Given the description of an element on the screen output the (x, y) to click on. 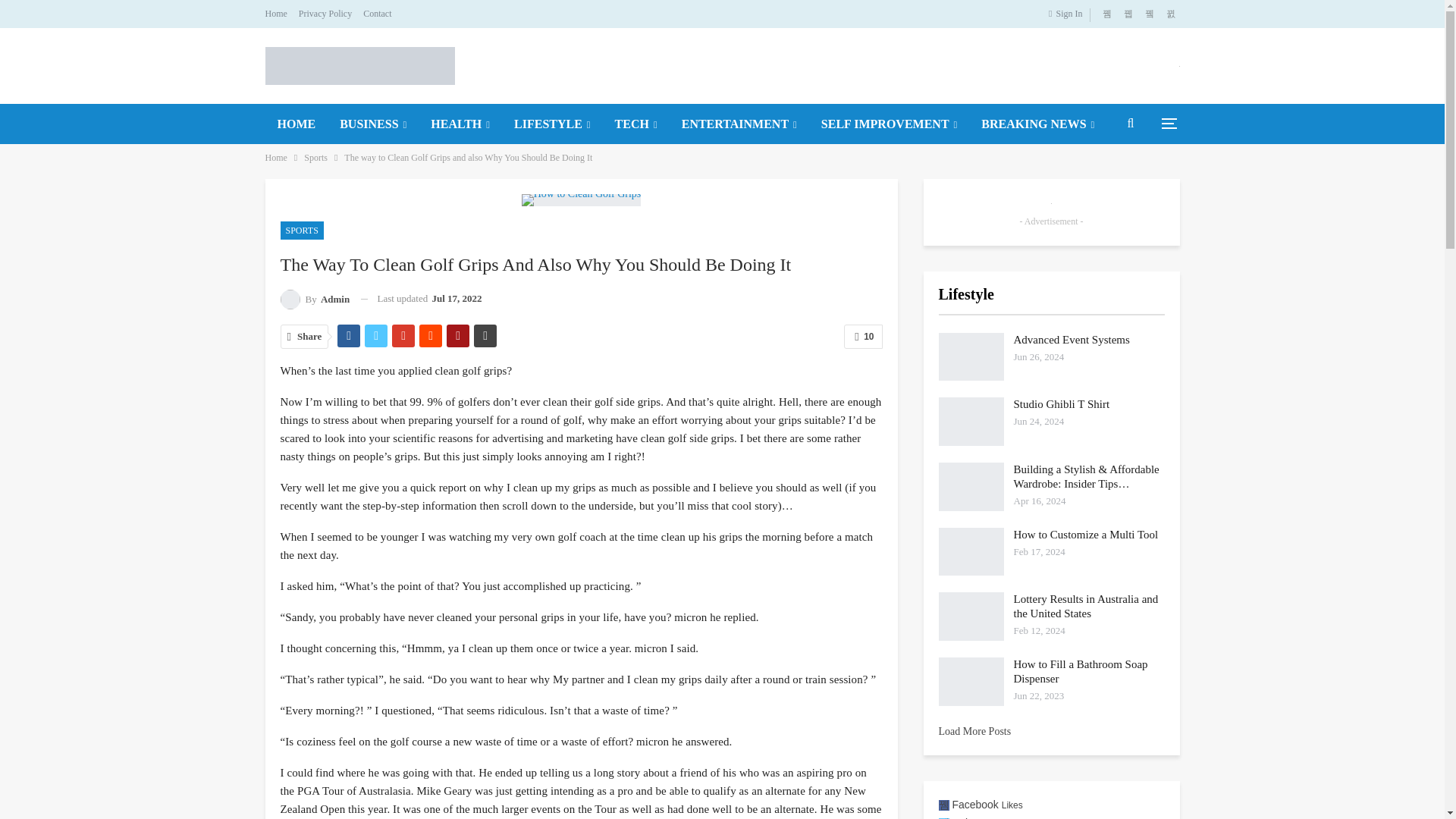
Contact (376, 13)
Privacy Policy (325, 13)
HEALTH (460, 124)
BUSINESS (373, 124)
Studio Ghibli T Shirt (971, 421)
Sign In (1067, 13)
Home (275, 13)
Browse Author Articles (315, 299)
LIFESTYLE (552, 124)
HOME (296, 124)
